Given the description of an element on the screen output the (x, y) to click on. 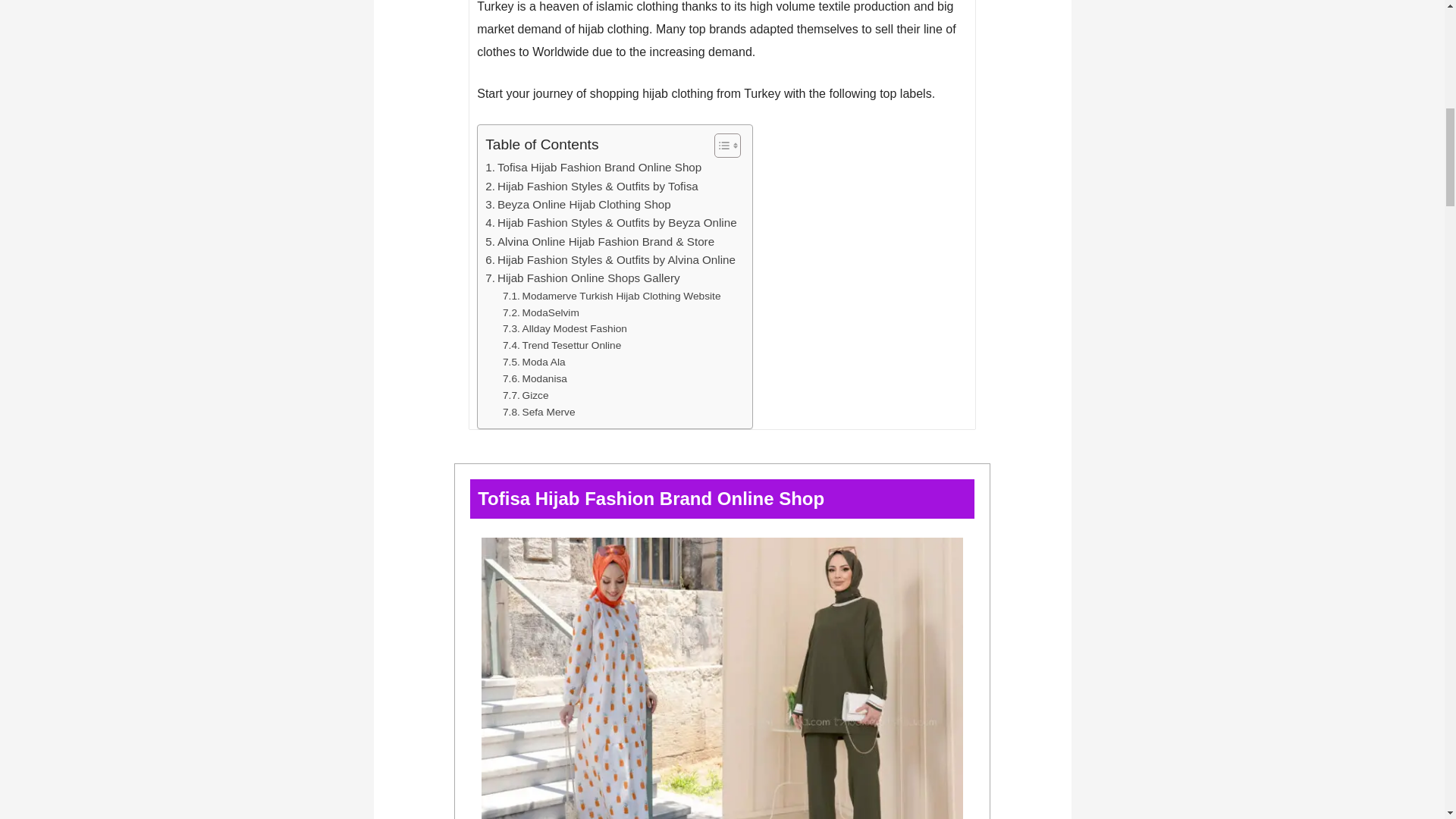
Moda Ala (534, 362)
Sefa Merve (538, 412)
Hijab Fashion Online Shops Gallery (581, 278)
Beyza Online Hijab Clothing Shop (577, 204)
Modamerve Turkish Hijab Clothing Website (611, 296)
Tofisa Hijab Fashion Brand Online Shop (592, 167)
ModaSelvim (540, 312)
Gizce (525, 395)
Trend Tesettur Online (561, 345)
Allday Modest Fashion (564, 329)
Modanisa (534, 379)
